Given the description of an element on the screen output the (x, y) to click on. 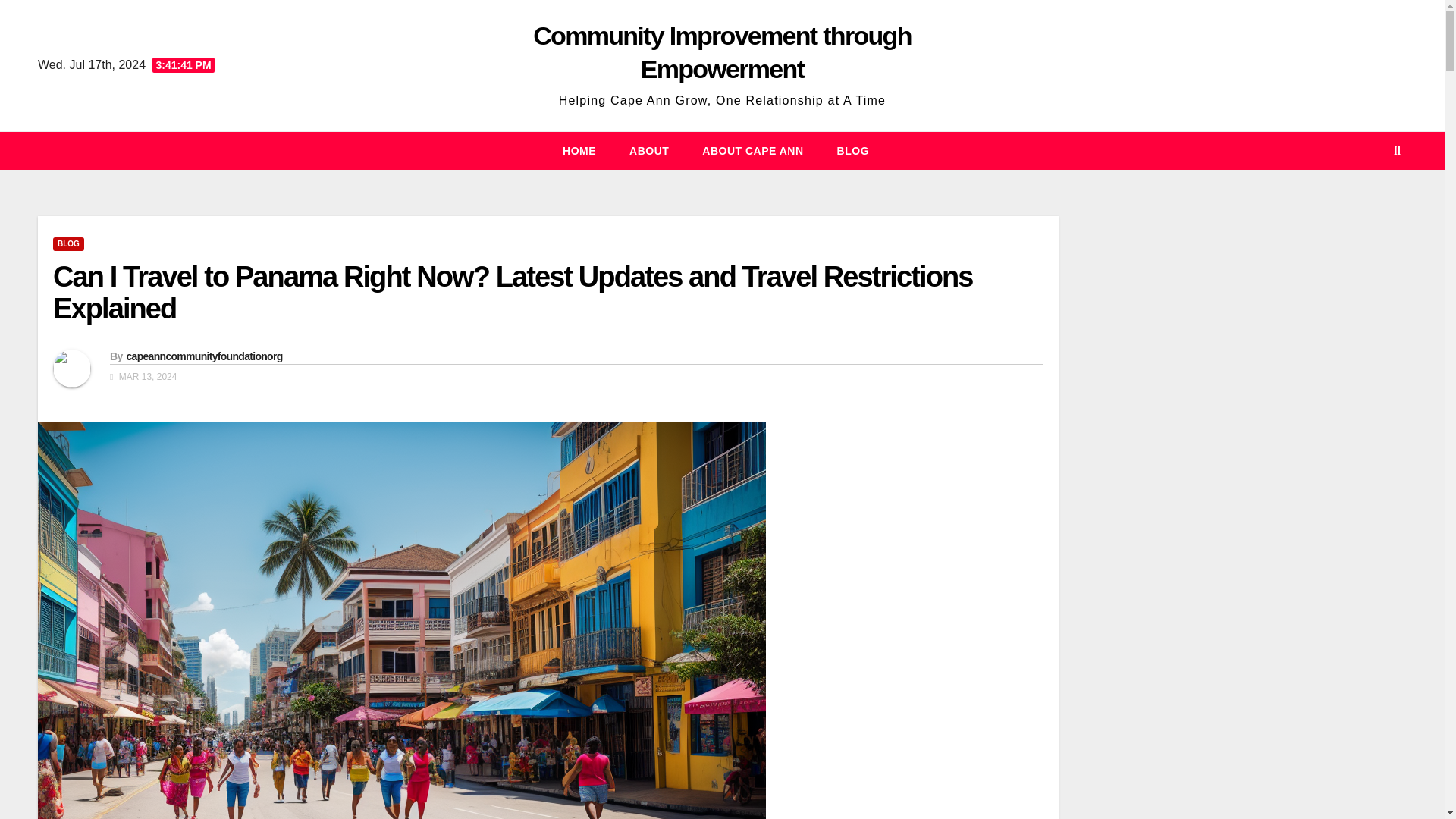
About Cape Ann (752, 150)
Home (579, 150)
ABOUT CAPE ANN (752, 150)
ABOUT (648, 150)
HOME (579, 150)
About (648, 150)
Community Improvement through Empowerment (721, 52)
BLOG (68, 243)
Blog (853, 150)
capeanncommunityfoundationorg (203, 356)
BLOG (853, 150)
